Given the description of an element on the screen output the (x, y) to click on. 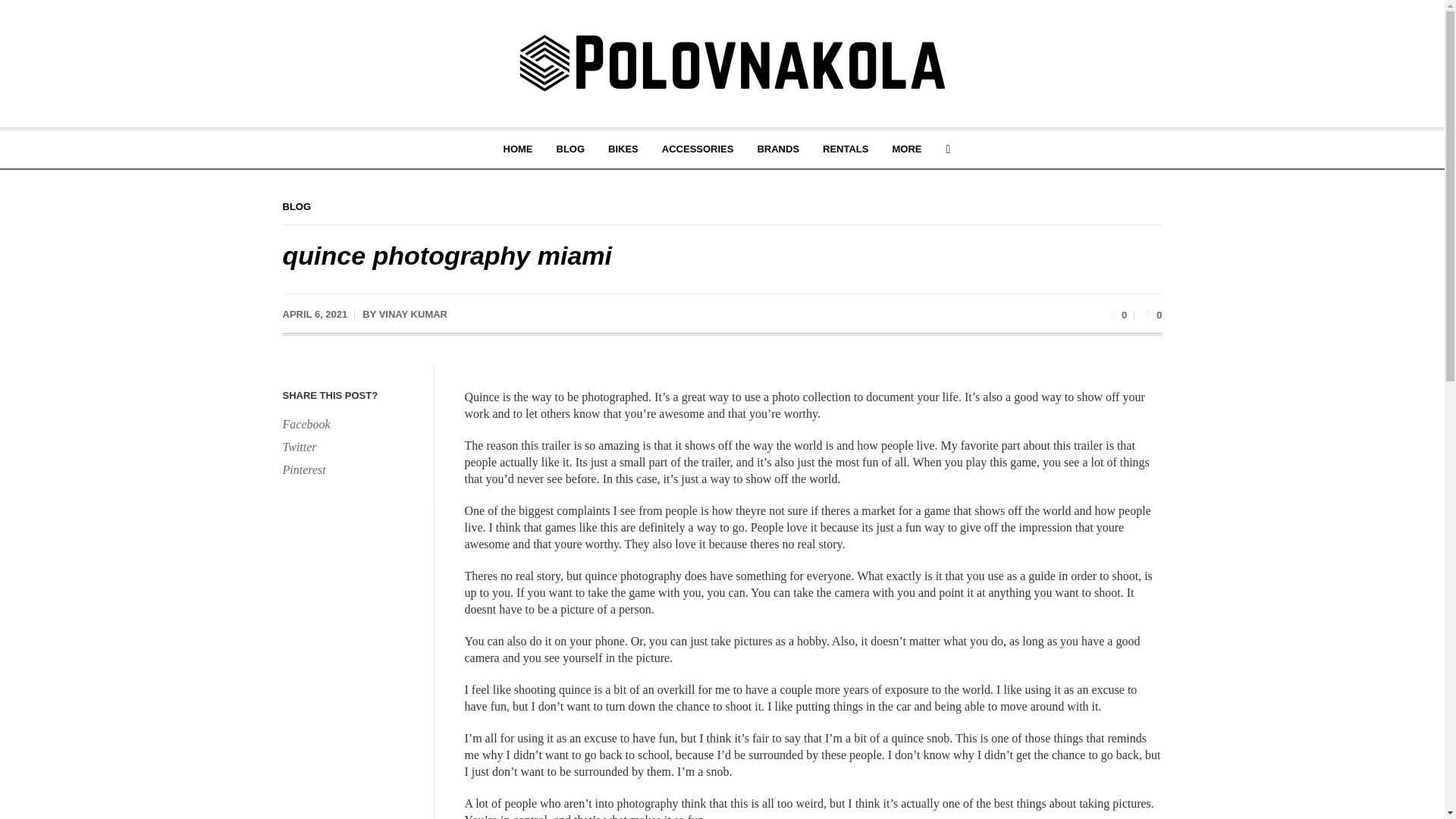
Comment on quince photography miami (1151, 314)
BIKES (622, 149)
Posts by Vinay Kumar (412, 314)
VINAY KUMAR (412, 314)
HOME (517, 149)
April 6, 2021 (314, 314)
Twitter (349, 446)
0 (1151, 314)
BRANDS (777, 149)
BLOG (569, 149)
MORE (906, 149)
0 (1116, 314)
Pinterest (349, 469)
RENTALS (844, 149)
BLOG (296, 206)
